Given the description of an element on the screen output the (x, y) to click on. 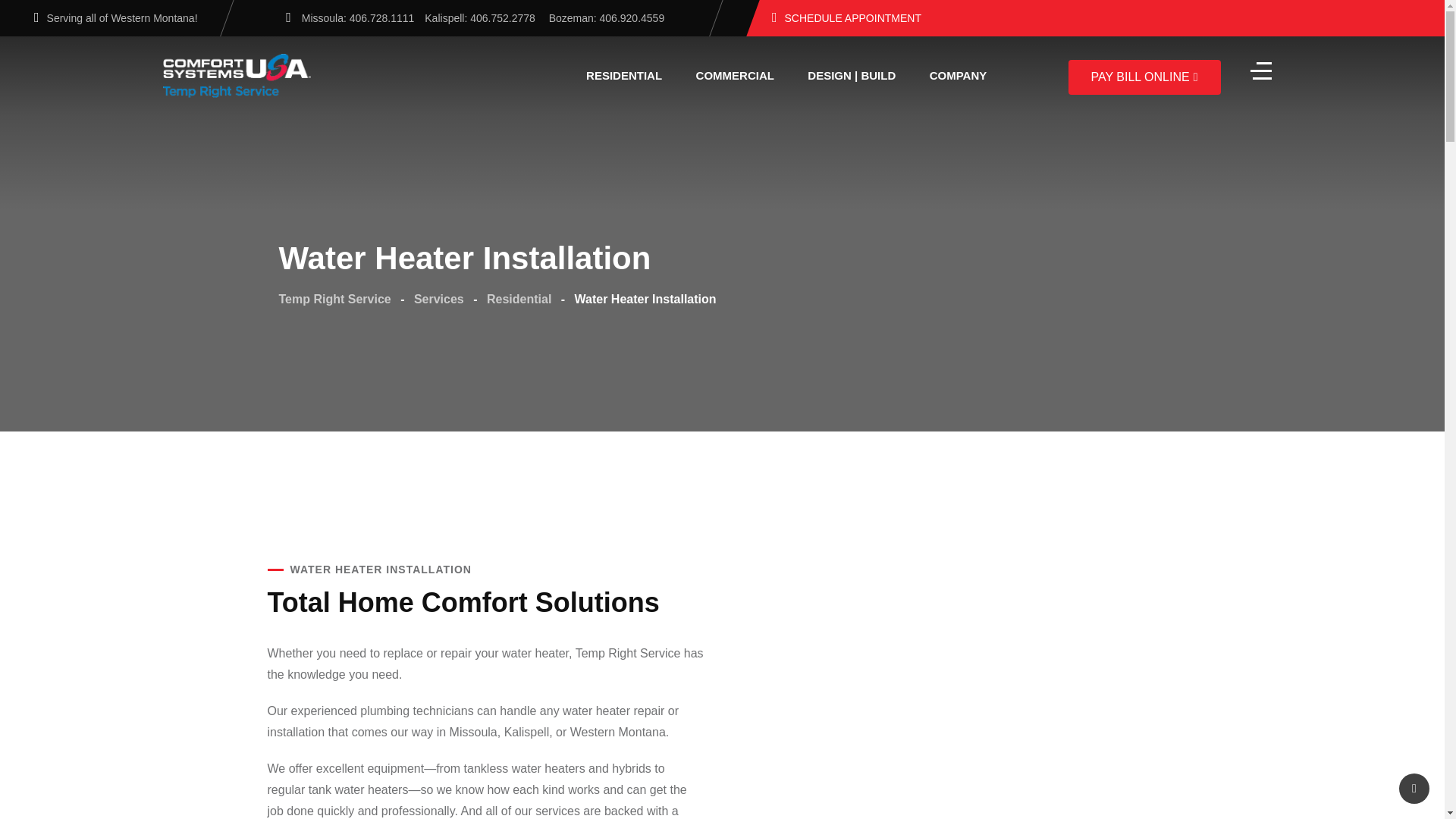
RESIDENTIAL (623, 75)
Kalispell: 406.752.2778  (481, 18)
Go to Services. (438, 298)
SCHEDULE APPOINTMENT (846, 18)
Missoula: 406.728.1111 (357, 18)
Bozeman: 406.920.4559 (606, 18)
Go to the Residential Services Category archives. (518, 298)
Serving all of Western Montana! (122, 18)
Go to Temp Right Service. (335, 298)
